Given the description of an element on the screen output the (x, y) to click on. 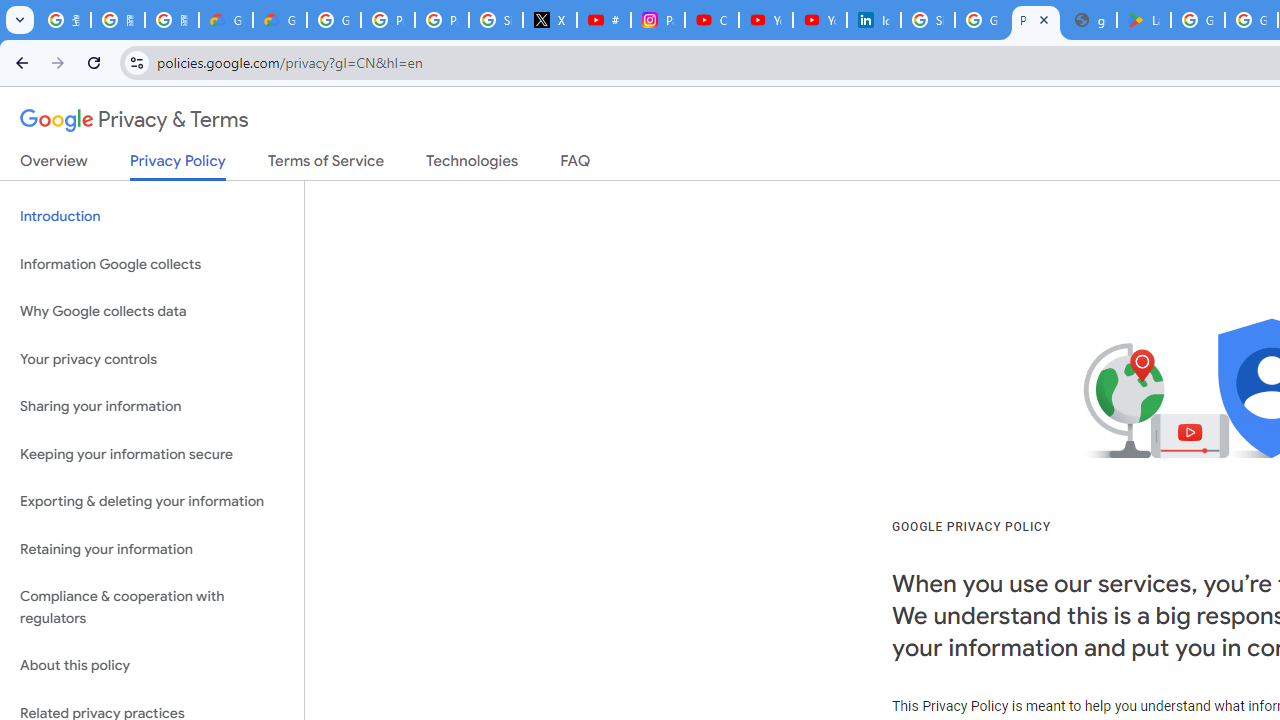
X (550, 20)
Sign in - Google Accounts (495, 20)
Exporting & deleting your information (152, 502)
Compliance & cooperation with regulators (152, 607)
Sharing your information (152, 407)
Sign in - Google Accounts (927, 20)
